Given the description of an element on the screen output the (x, y) to click on. 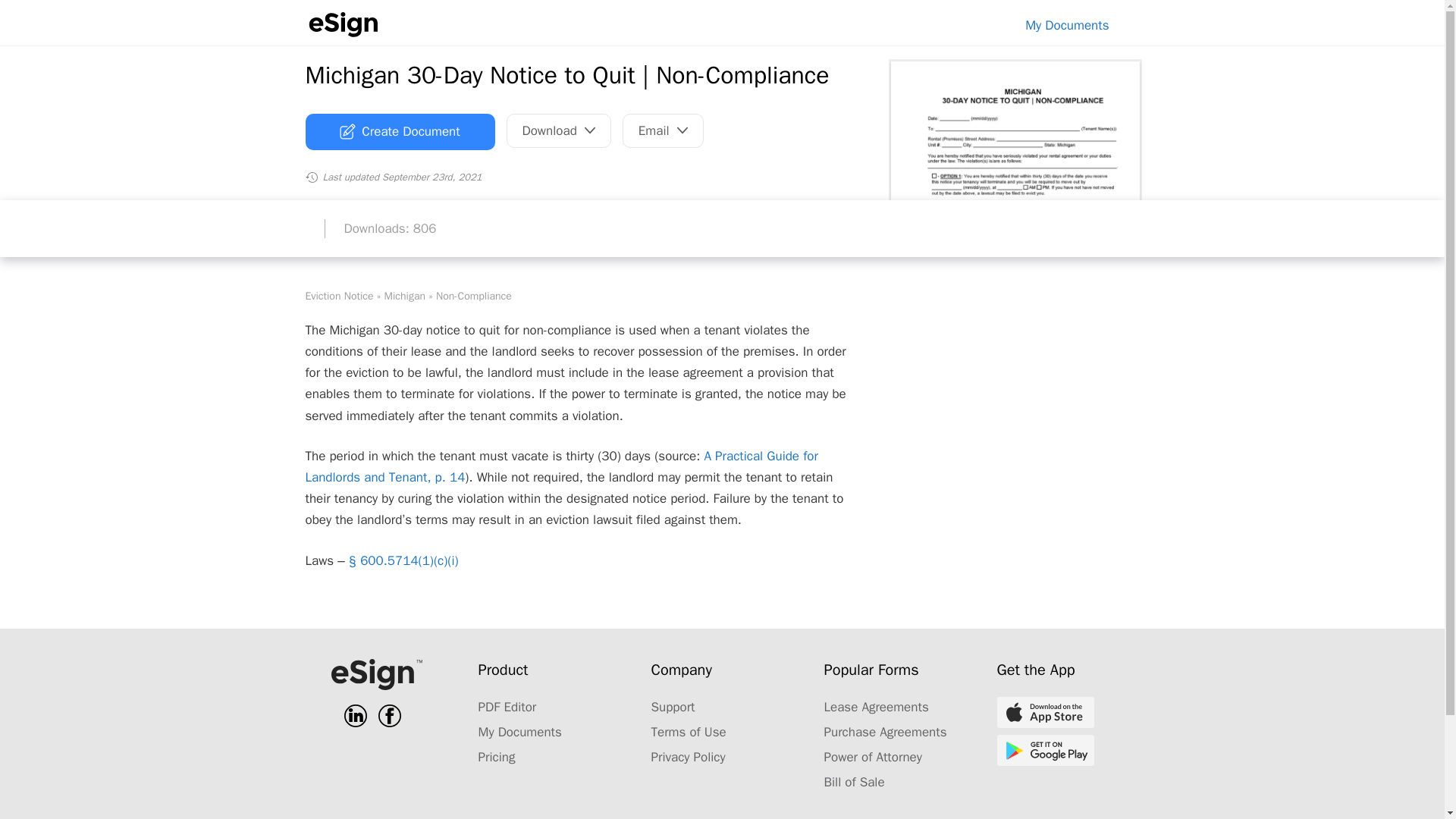
A Practical Guide for Landlords and Tenant, p. 14 (560, 466)
Email (663, 130)
Create Document (399, 131)
Google Play Store icon (1044, 749)
Download (558, 130)
Michigan (405, 295)
My Documents (1066, 24)
PDF Editor (506, 706)
Eviction Notice (338, 295)
Apple Store icon (1044, 712)
